Given the description of an element on the screen output the (x, y) to click on. 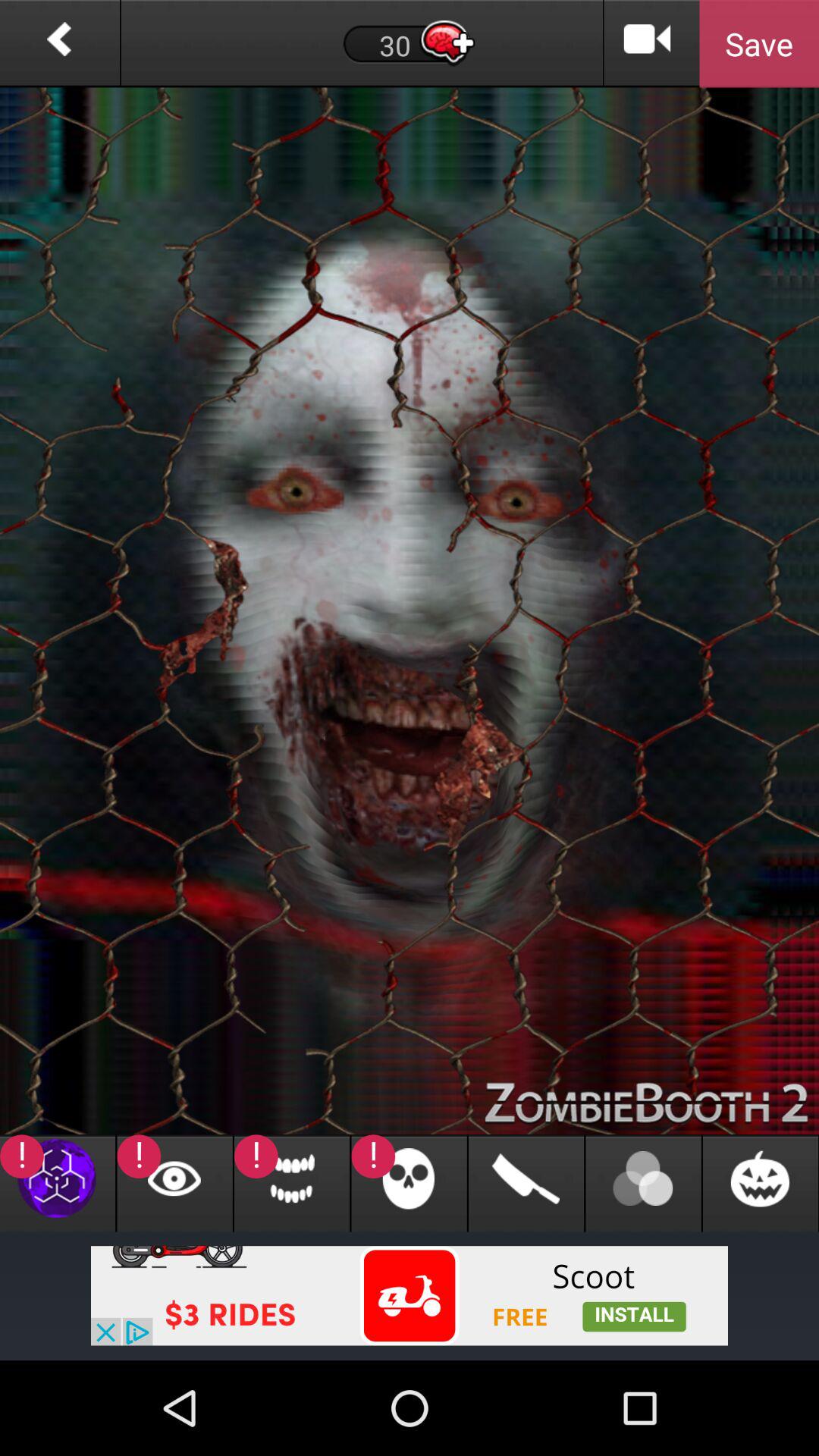
visible icon (174, 1182)
